Given the description of an element on the screen output the (x, y) to click on. 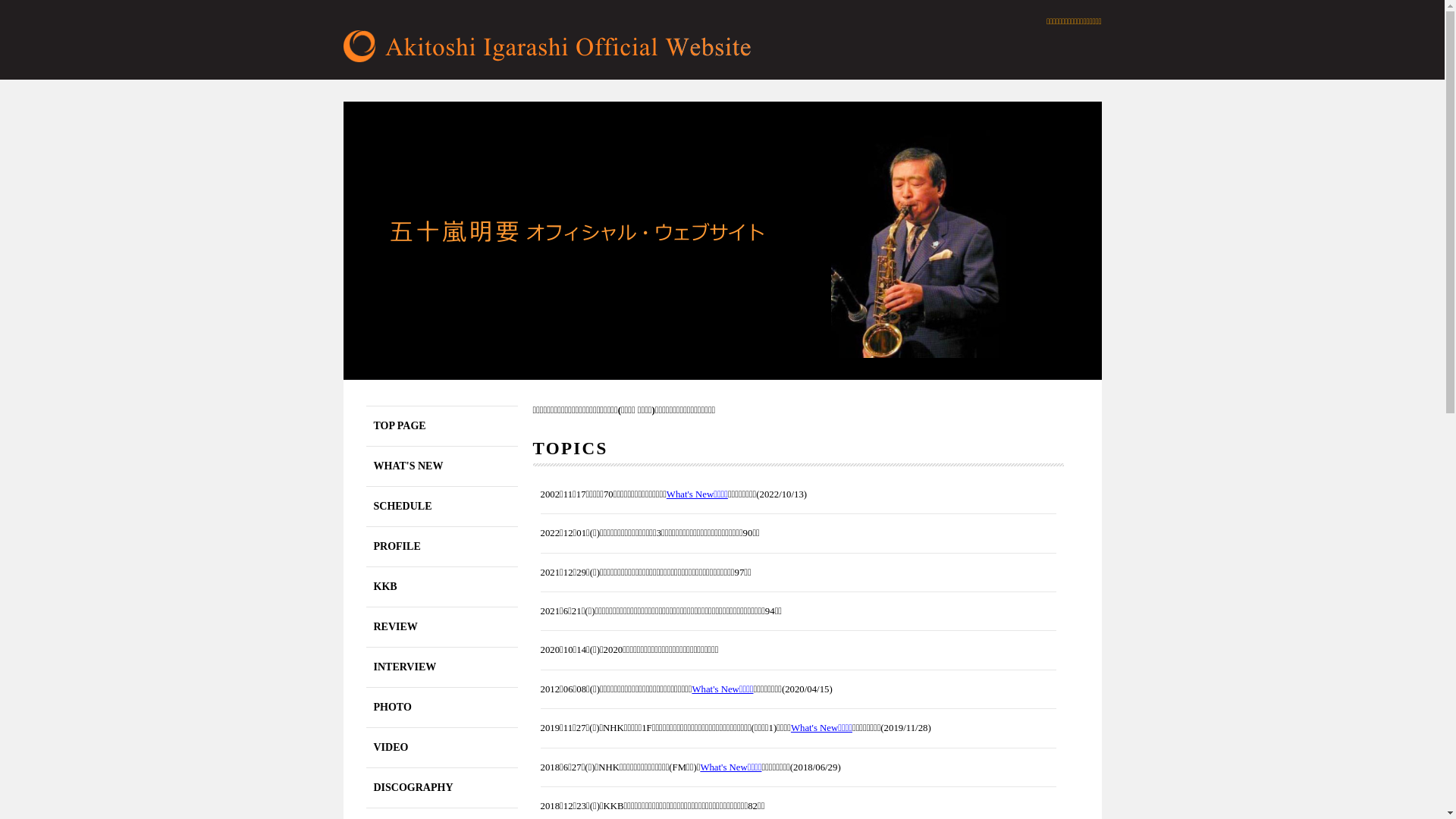
REVIEW Element type: text (441, 626)
VIDEO Element type: text (441, 747)
WHAT'S NEW Element type: text (441, 466)
PHOTO Element type: text (441, 707)
PROFILE Element type: text (441, 546)
DISCOGRAPHY Element type: text (441, 787)
INTERVIEW Element type: text (441, 667)
TOP PAGE Element type: text (441, 425)
KKB Element type: text (441, 586)
SCHEDULE Element type: text (441, 506)
